Given the description of an element on the screen output the (x, y) to click on. 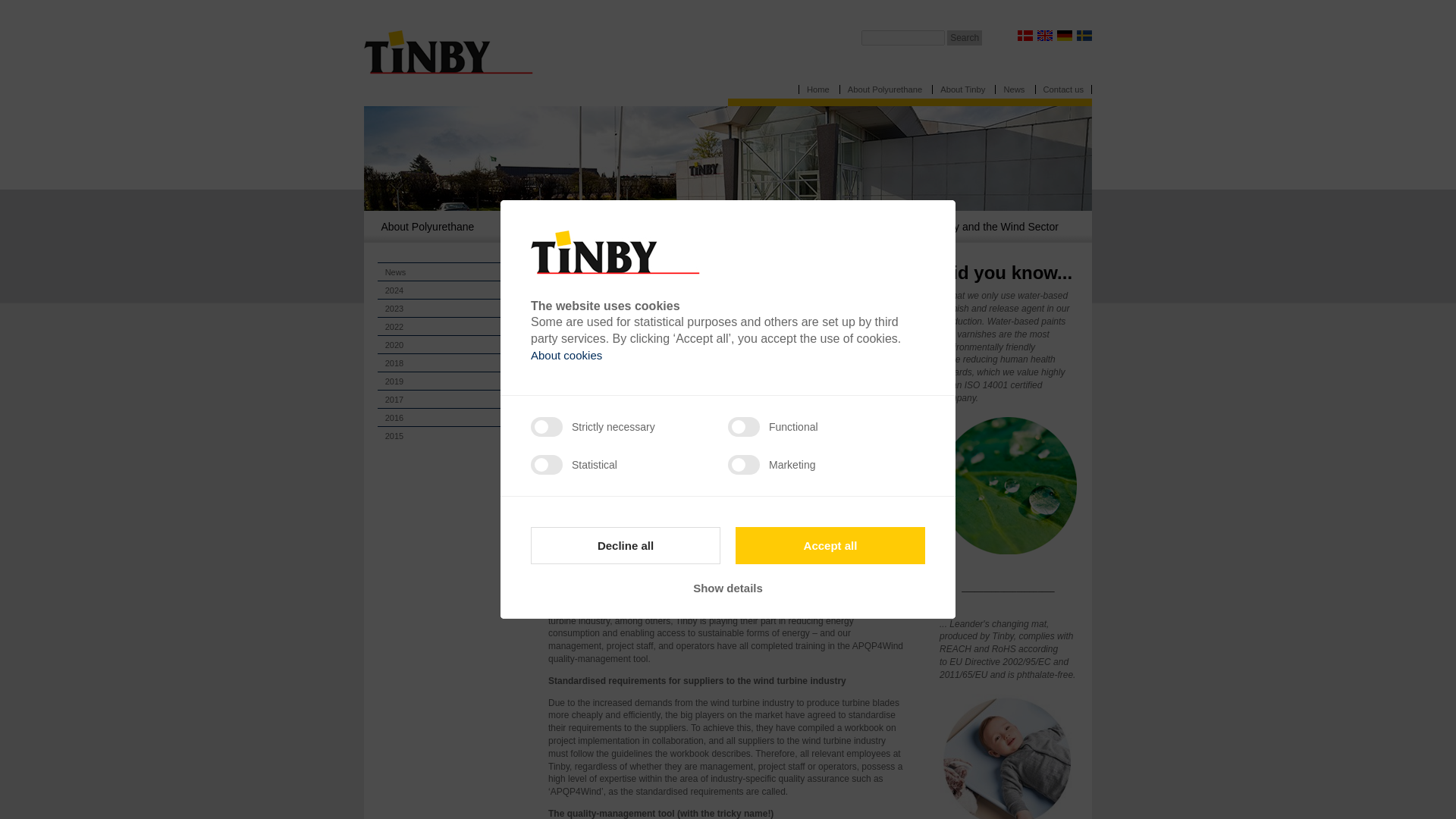
Show details (727, 587)
About cookies (566, 354)
Decline all (625, 545)
Accept all (829, 545)
